Given the description of an element on the screen output the (x, y) to click on. 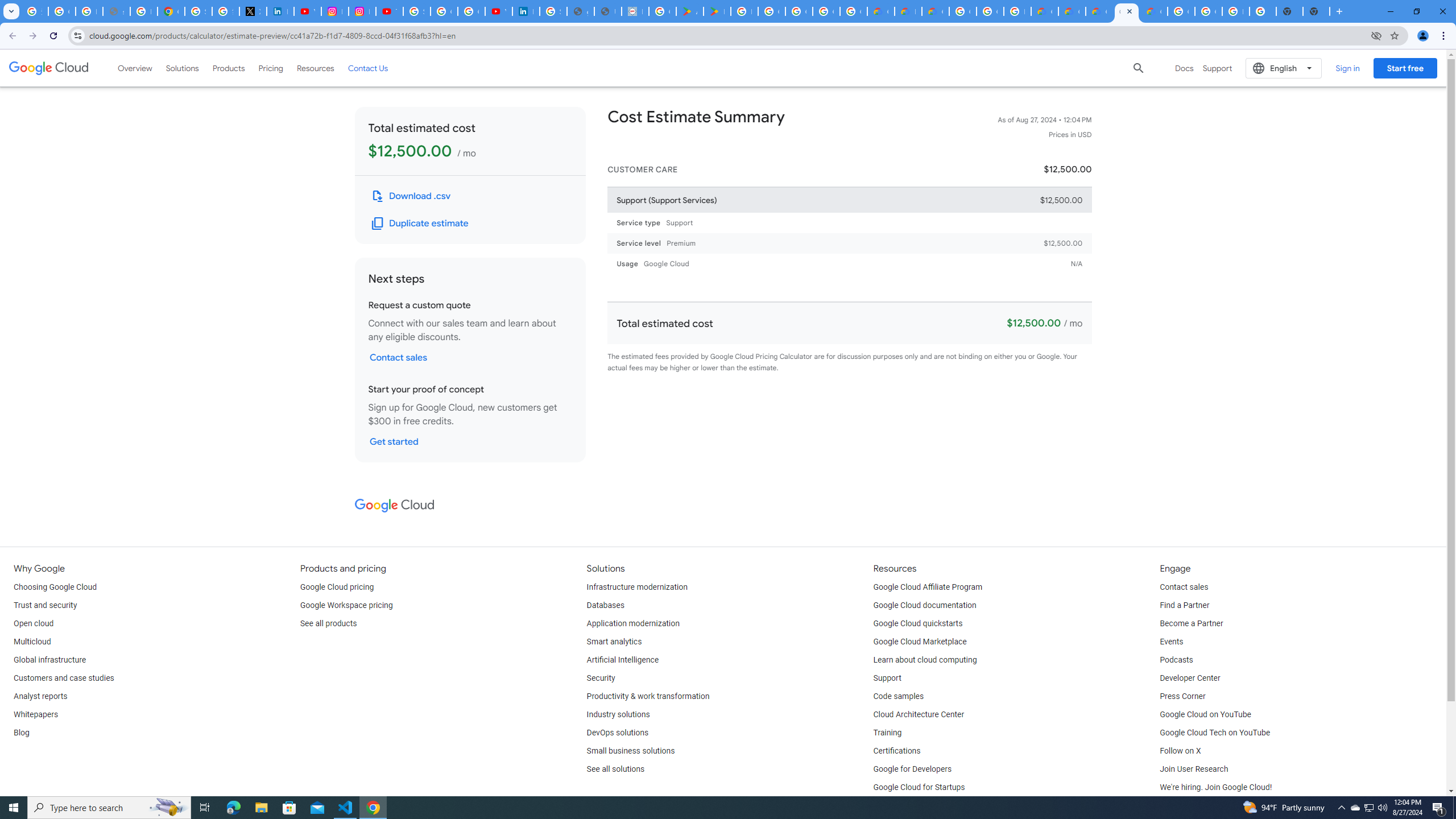
Gemini for Business and Developers | Google Cloud (935, 11)
Google Cloud pricing (336, 587)
Support (887, 678)
Get started (393, 441)
Pricing (270, 67)
User Details (607, 11)
